Given the description of an element on the screen output the (x, y) to click on. 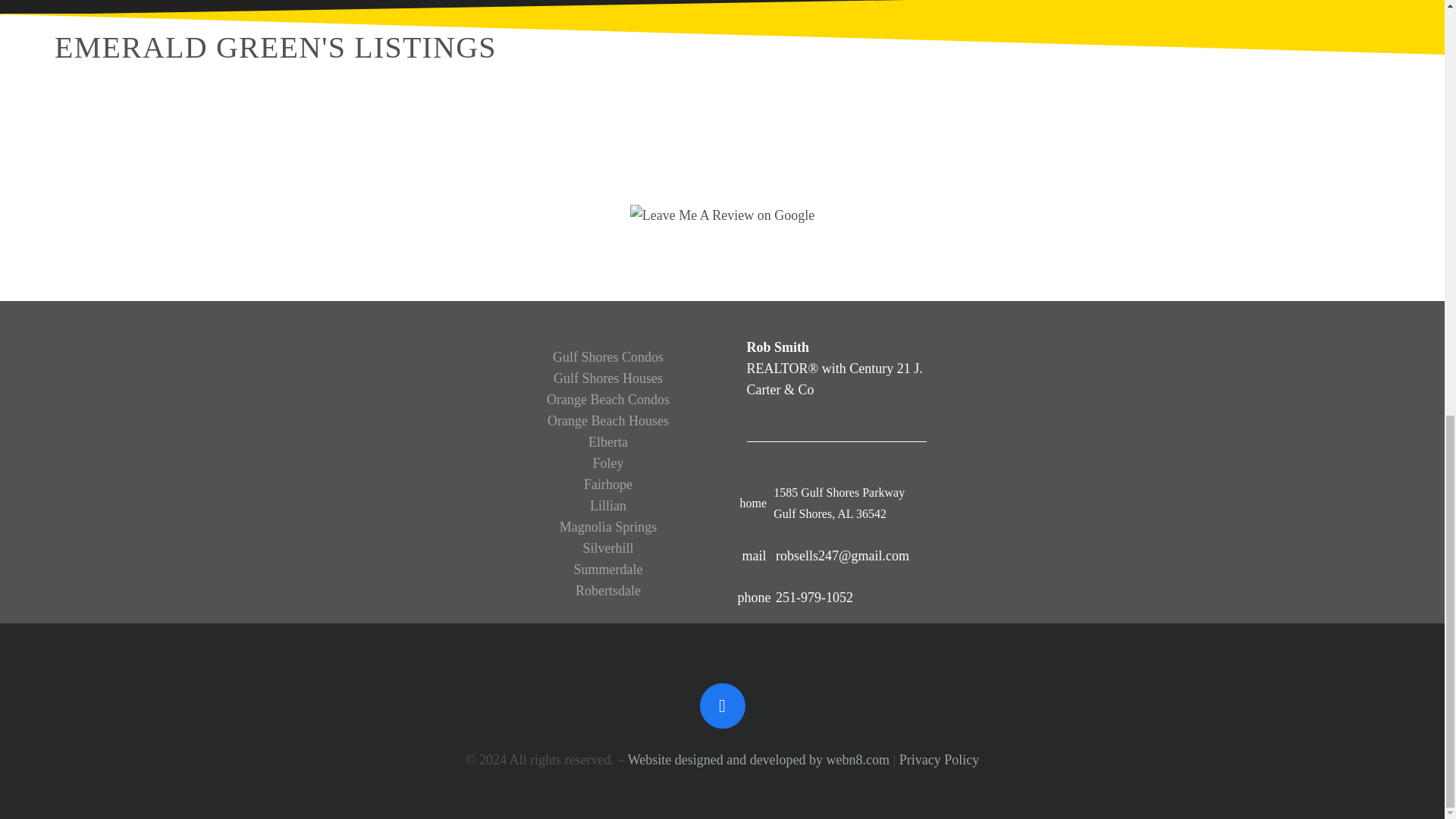
251-979-1052 (814, 596)
Leave Me a Review on Google (721, 214)
251-979-1052 (759, 596)
